Given the description of an element on the screen output the (x, y) to click on. 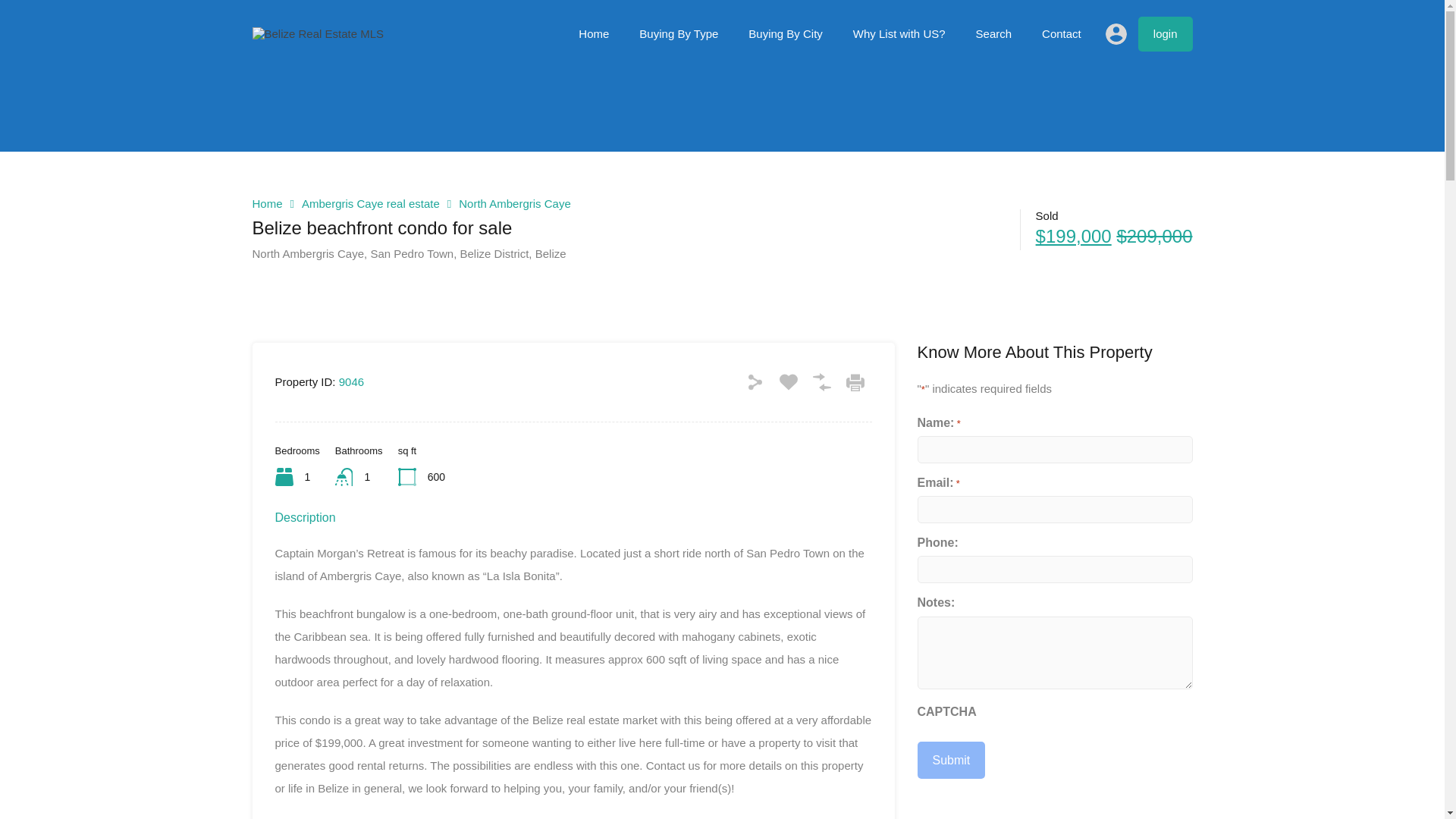
Belize Real Estate MLS (317, 33)
Submit (951, 760)
